Given the description of an element on the screen output the (x, y) to click on. 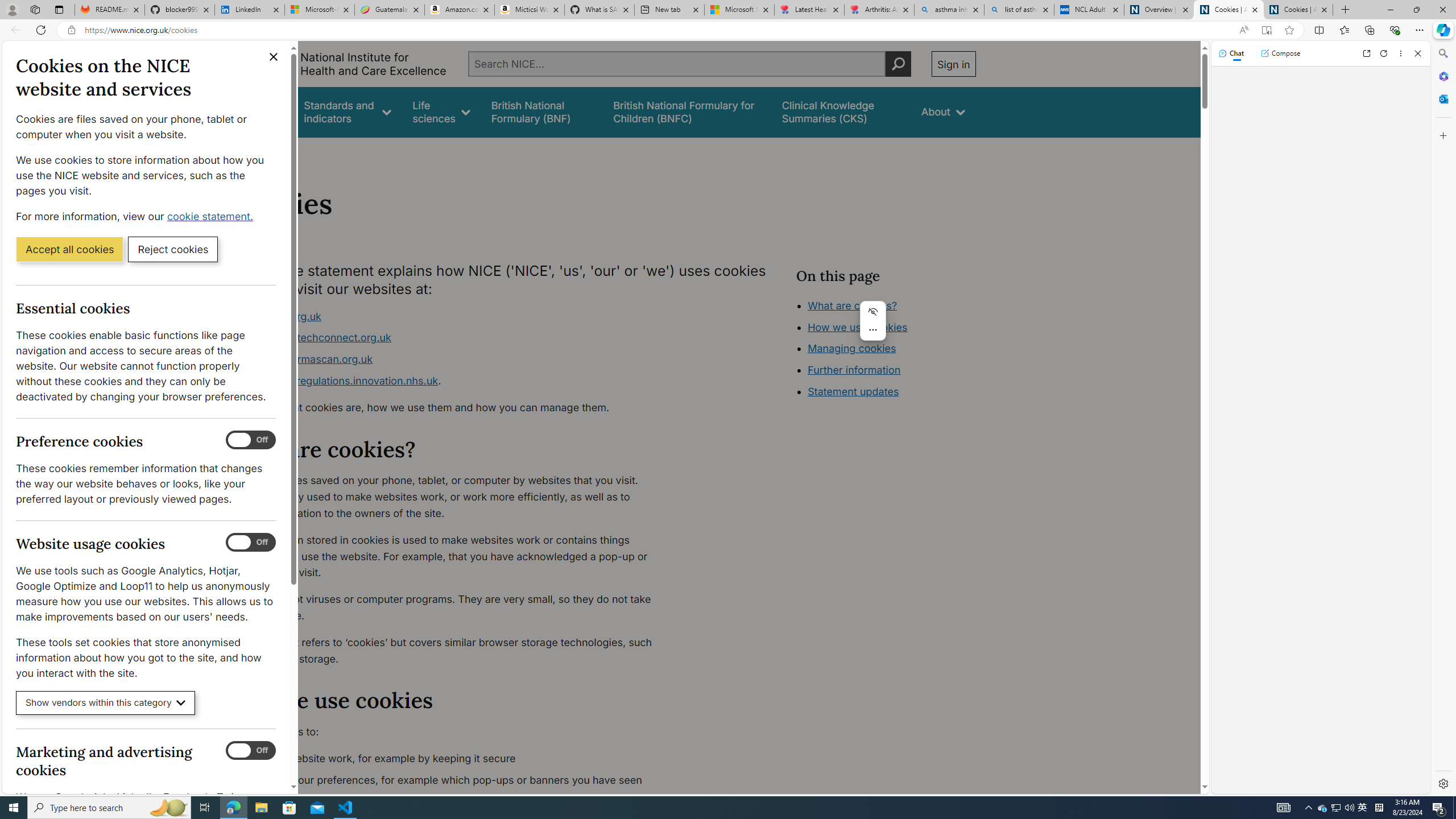
Accept all cookies (69, 248)
Mini menu on text selection (872, 320)
www.digitalregulations.innovation.nhs.uk. (452, 380)
www.ukpharmascan.org.uk (305, 359)
Mini menu on text selection (873, 327)
false (841, 111)
Show vendors within this category (105, 703)
British National Formulary for Children (BNFC) (686, 111)
